Given the description of an element on the screen output the (x, y) to click on. 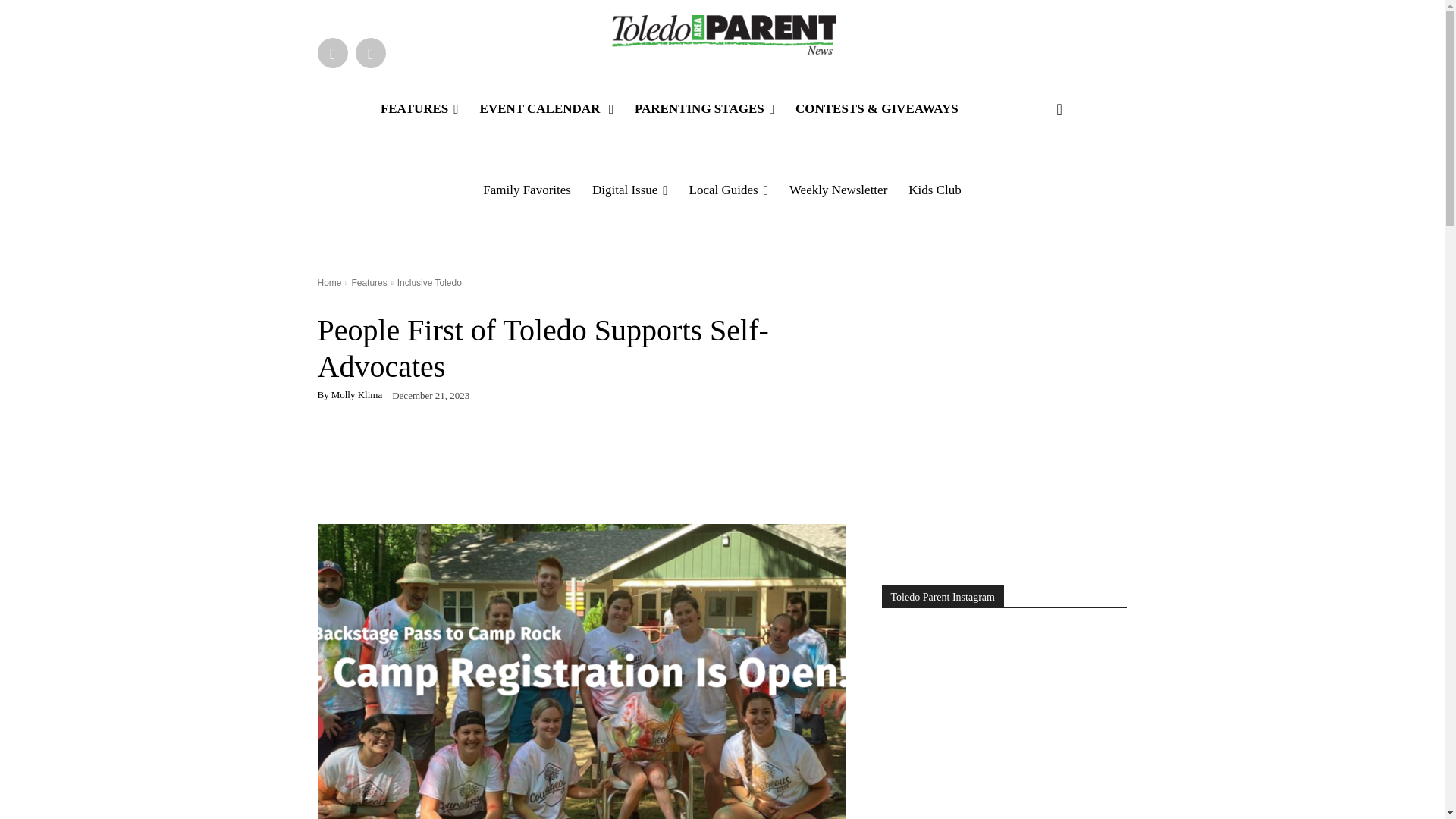
FEATURES (418, 108)
View all posts in Features (368, 282)
View all posts in Inclusive Toledo (429, 282)
Facebook (332, 52)
Instagram (370, 52)
